Given the description of an element on the screen output the (x, y) to click on. 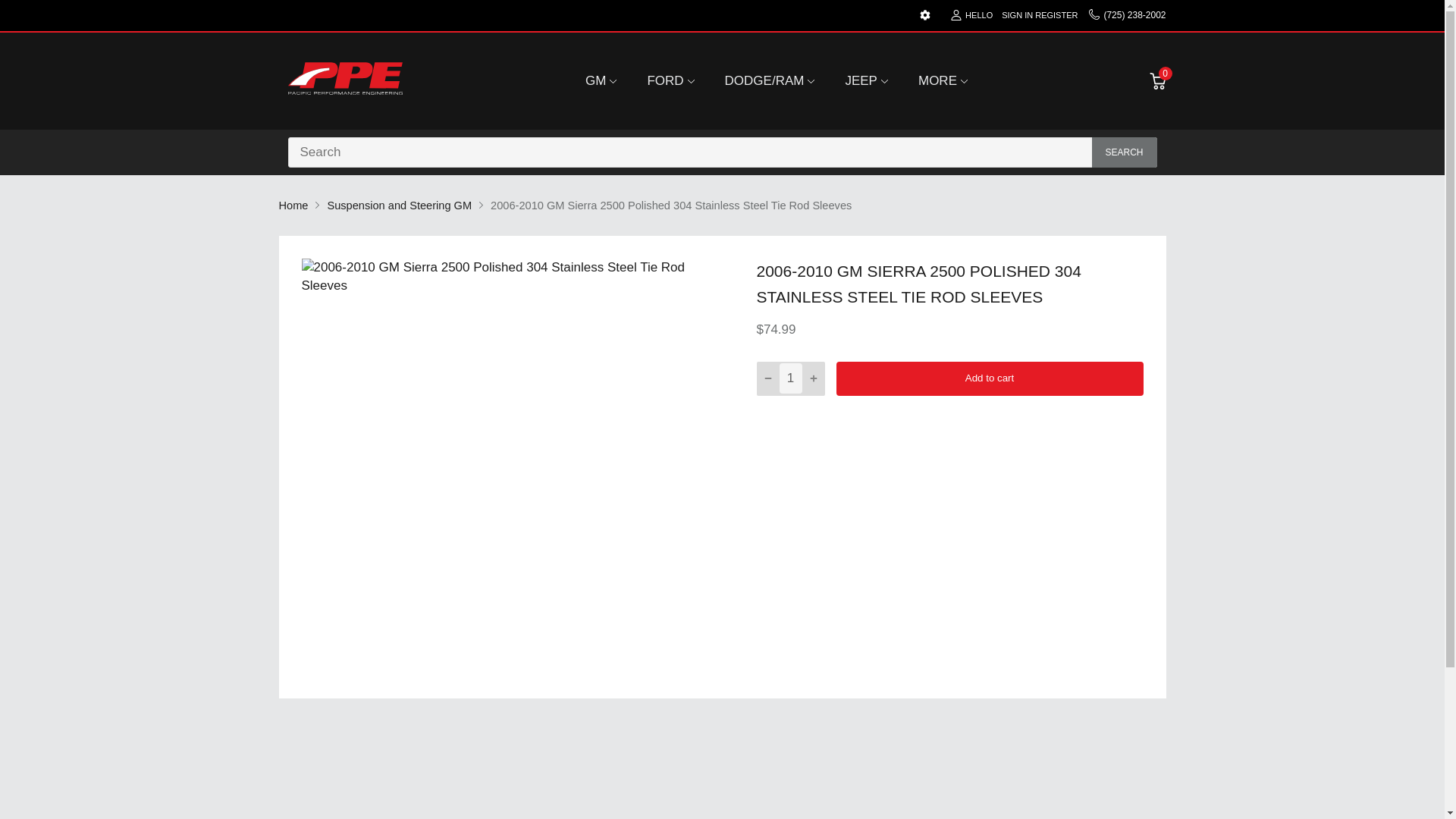
Suspension and Steering GM (398, 205)
SEARCH (1124, 152)
HELLO (971, 15)
FORD (664, 80)
REGISTER (1056, 14)
MORE (937, 80)
Add to cart (988, 378)
Home (293, 205)
Twitter (855, 445)
0 (1158, 80)
Facebook (833, 445)
Pinterest (878, 445)
SIGN IN (1016, 14)
